Given the description of an element on the screen output the (x, y) to click on. 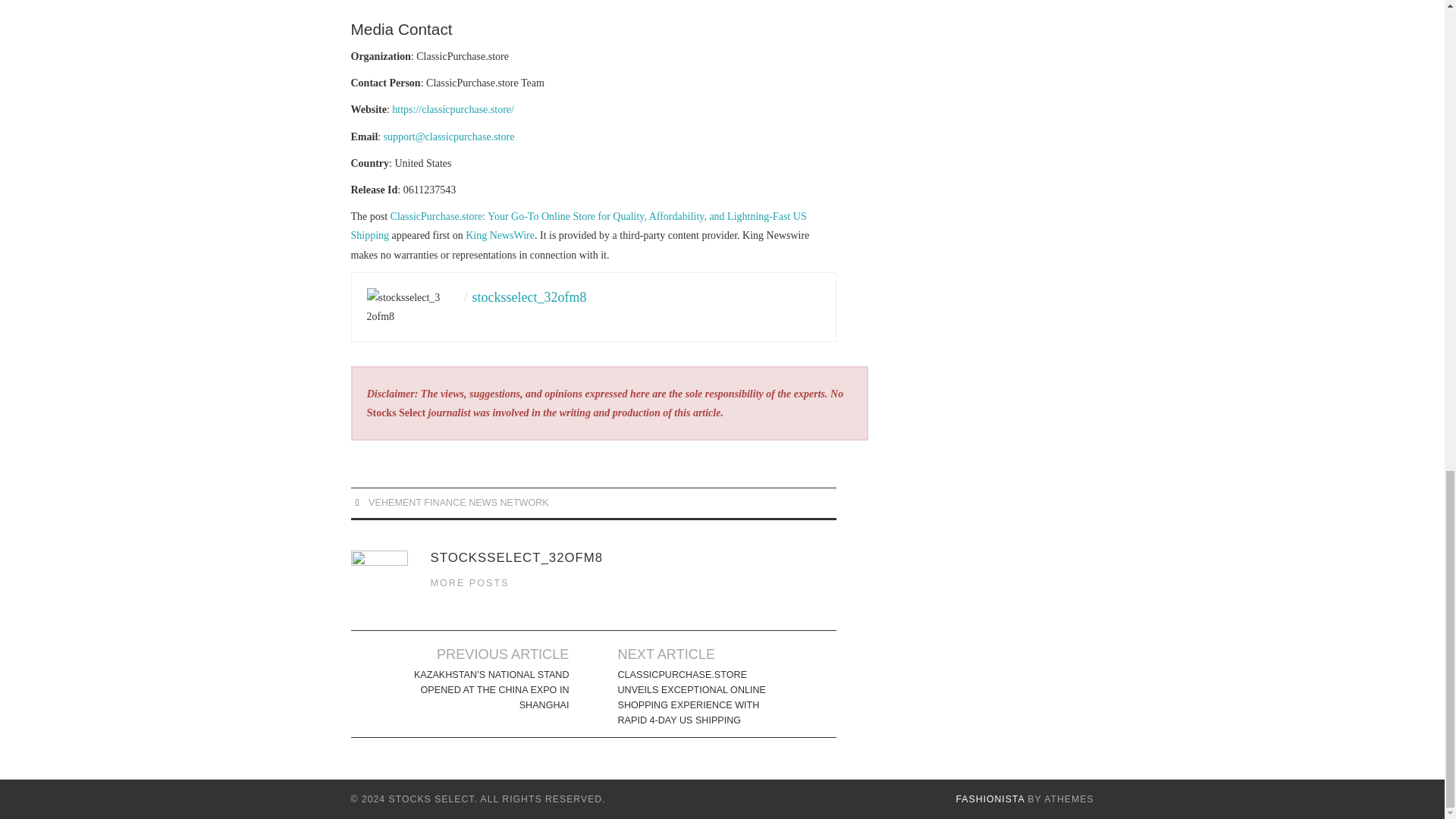
MORE POSTS (469, 583)
VEHEMENT FINANCE NEWS NETWORK (458, 502)
King NewsWire (499, 235)
